Given the description of an element on the screen output the (x, y) to click on. 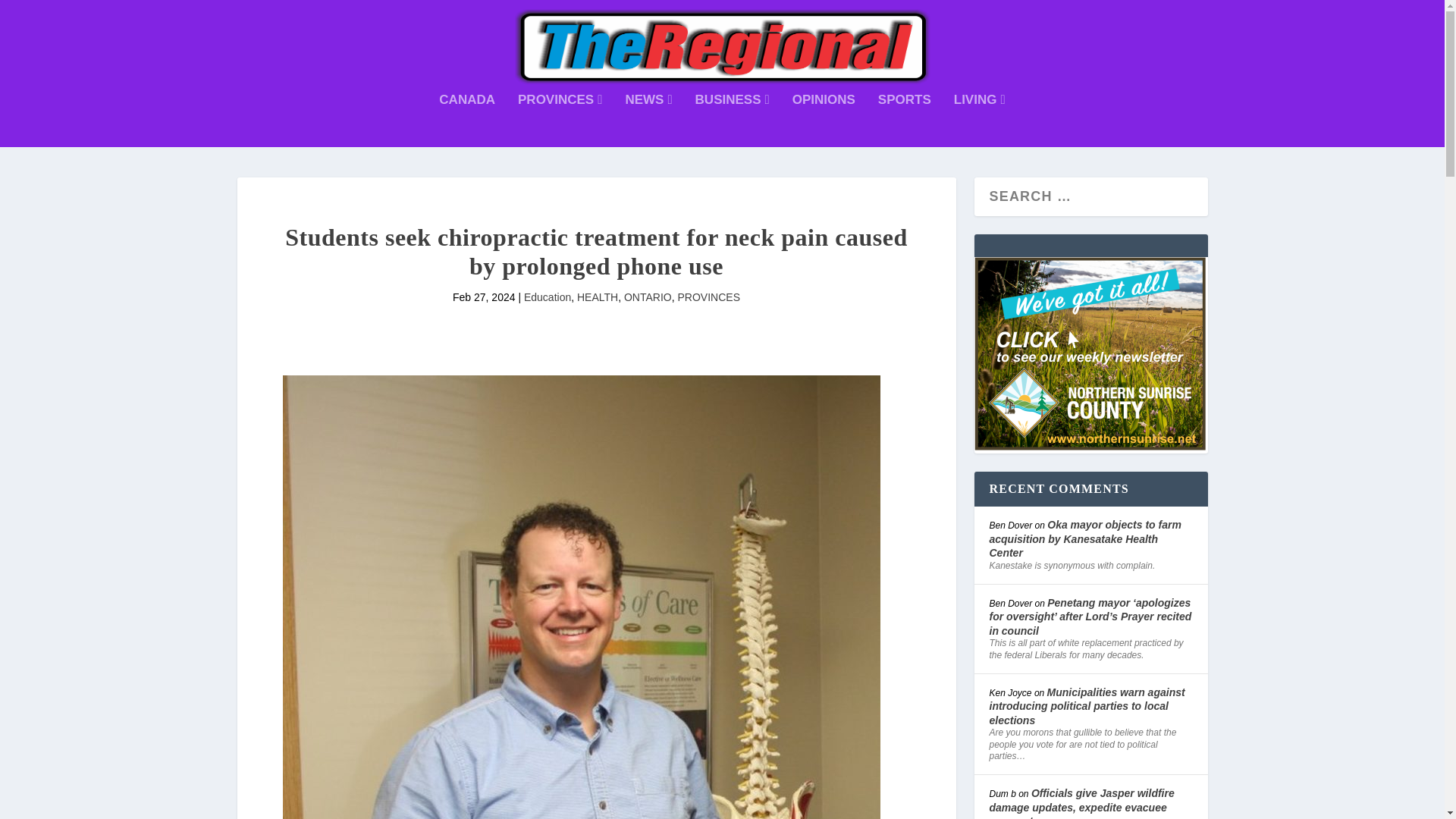
LIVING (979, 120)
PROVINCES (560, 120)
BUSINESS (732, 120)
SPORTS (904, 120)
OPINIONS (824, 120)
CANADA (467, 120)
